Given the description of an element on the screen output the (x, y) to click on. 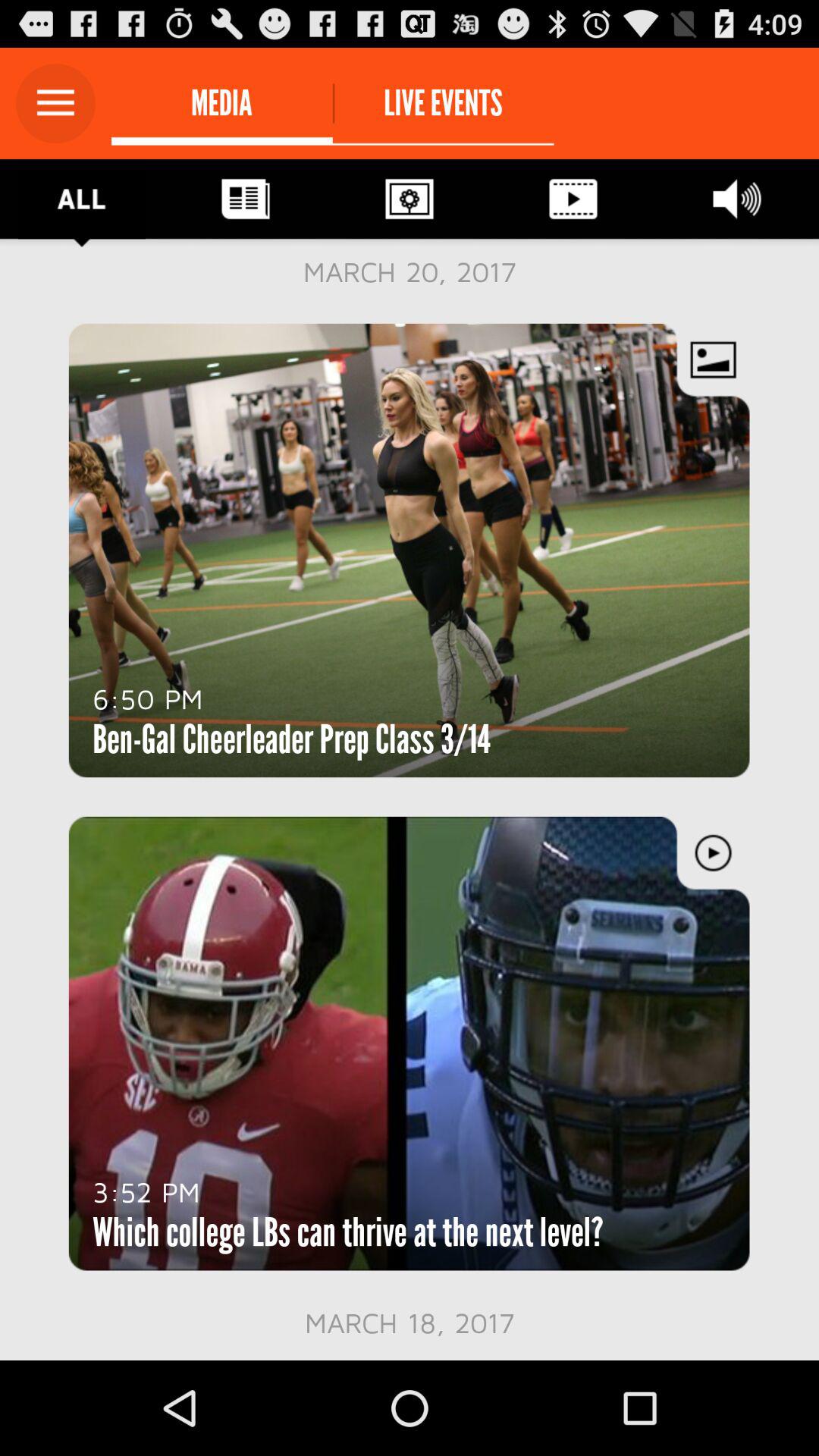
tap ben gal cheerleader item (291, 739)
